Given the description of an element on the screen output the (x, y) to click on. 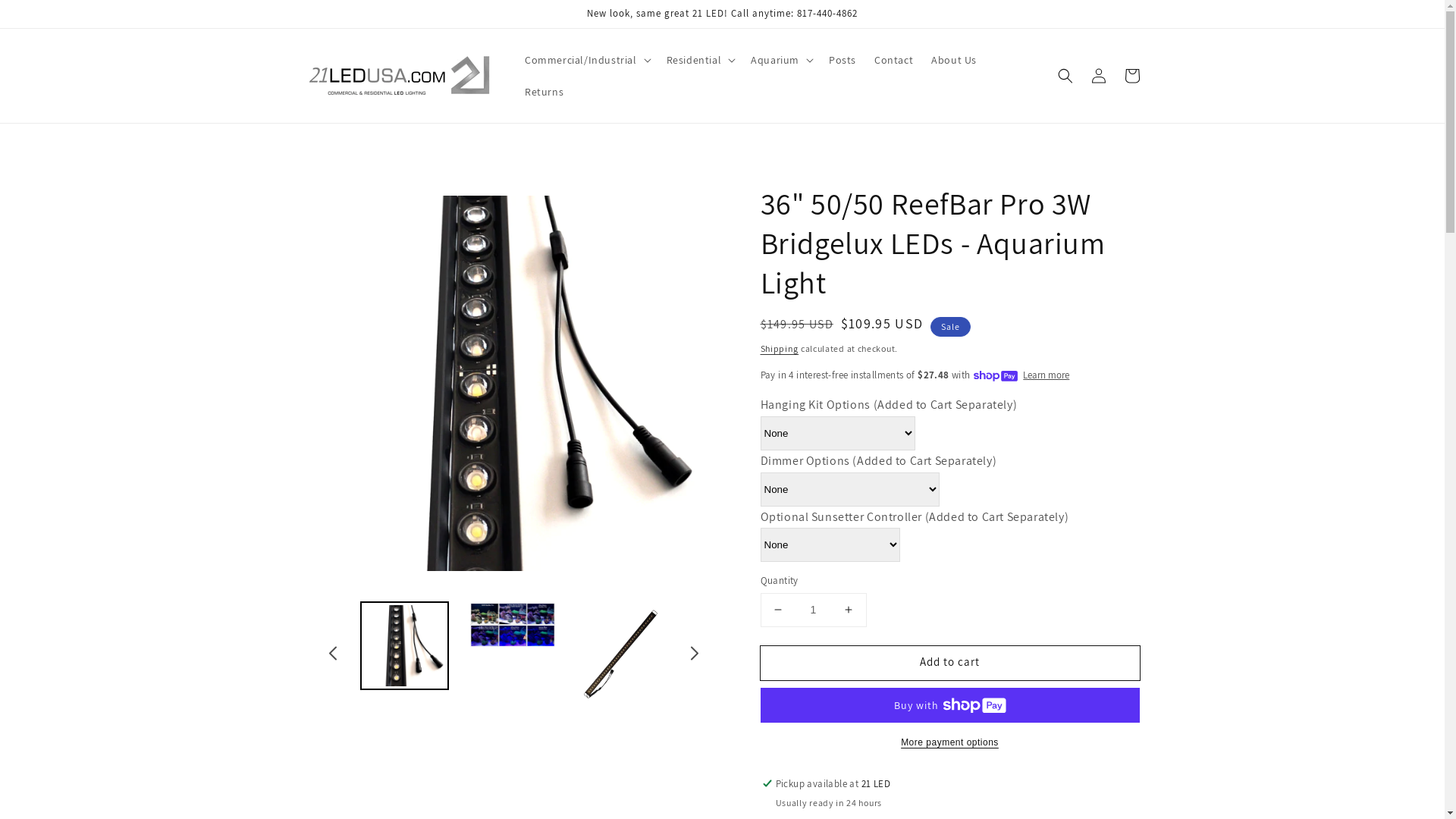
Open media 1 in gallery view Element type: text (513, 383)
0 Element type: text (404, 657)
0 Element type: text (620, 657)
About Us Element type: text (953, 59)
Cart Element type: text (1131, 75)
Skip to product information Element type: text (513, 199)
Add to cart Element type: text (949, 663)
Log in Element type: text (1097, 75)
Shipping Element type: text (778, 348)
More payment options Element type: text (949, 741)
Returns Element type: text (543, 91)
0 Element type: text (512, 657)
Posts Element type: text (842, 59)
Contact Element type: text (893, 59)
